Given the description of an element on the screen output the (x, y) to click on. 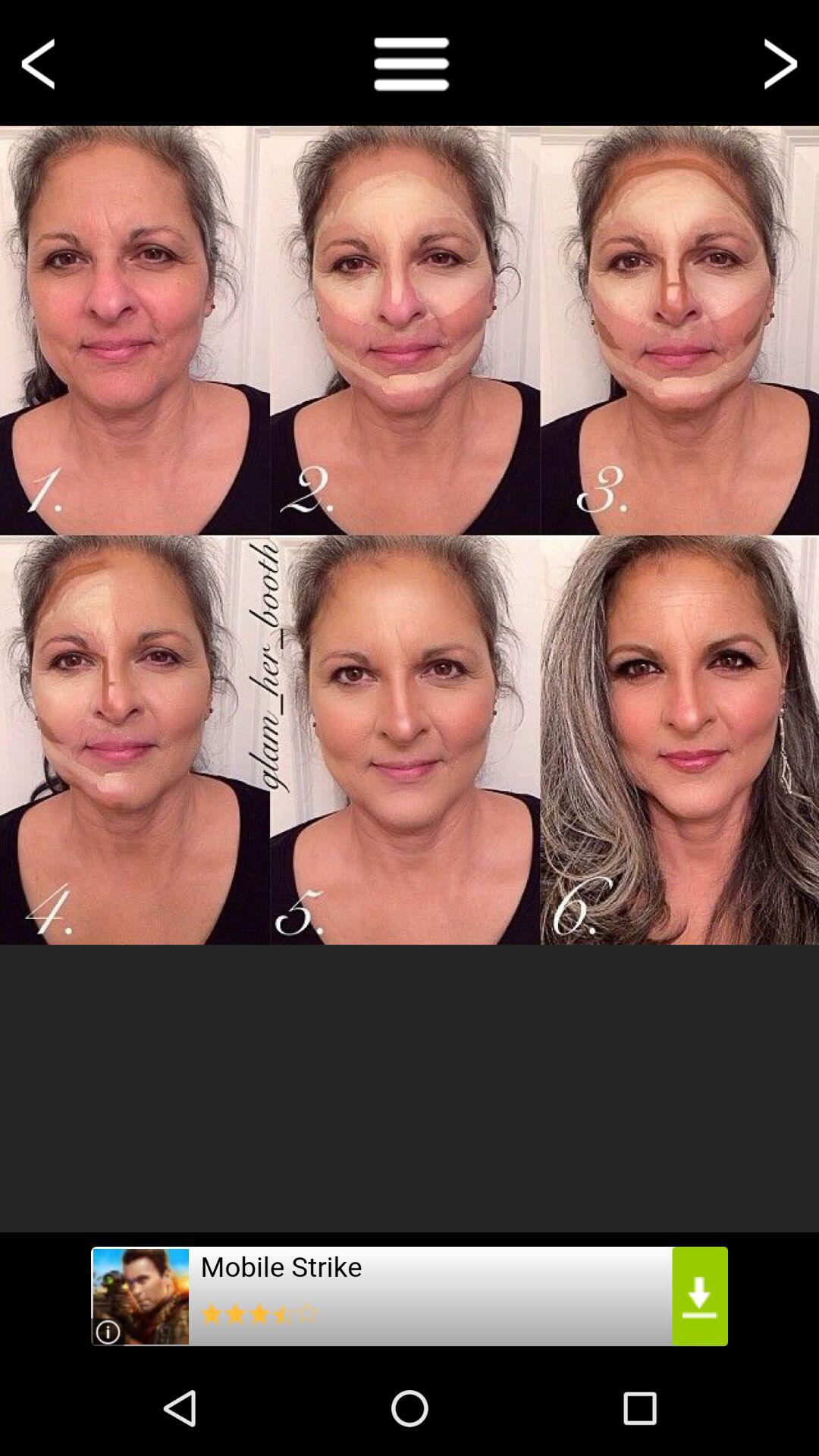
previous page (40, 62)
